Given the description of an element on the screen output the (x, y) to click on. 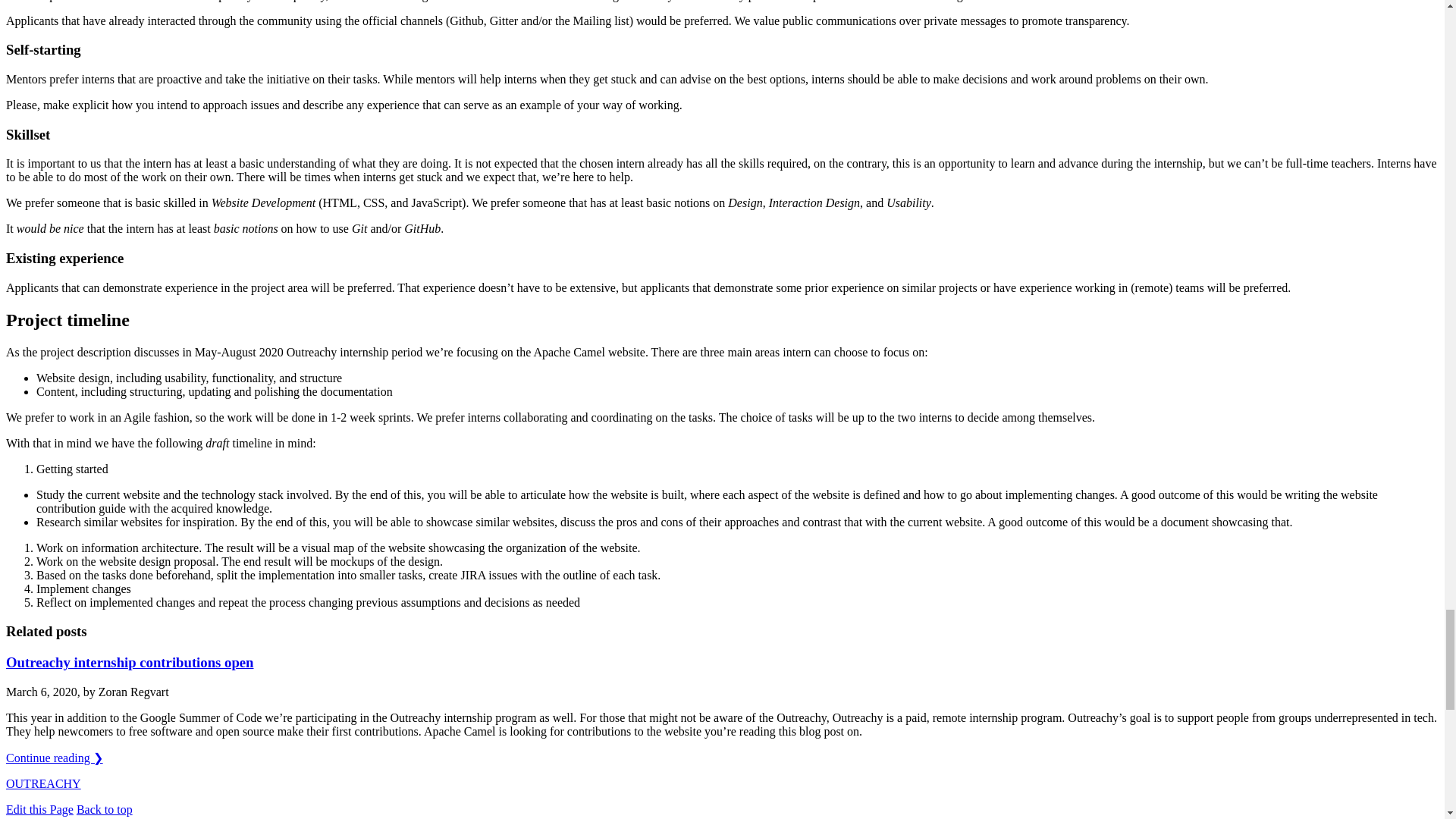
OUTREACHY (43, 783)
Edit this Page (39, 809)
Reach the top of the page (104, 809)
Back to top (104, 809)
Friday, March 6, 2020 (41, 691)
